Given the description of an element on the screen output the (x, y) to click on. 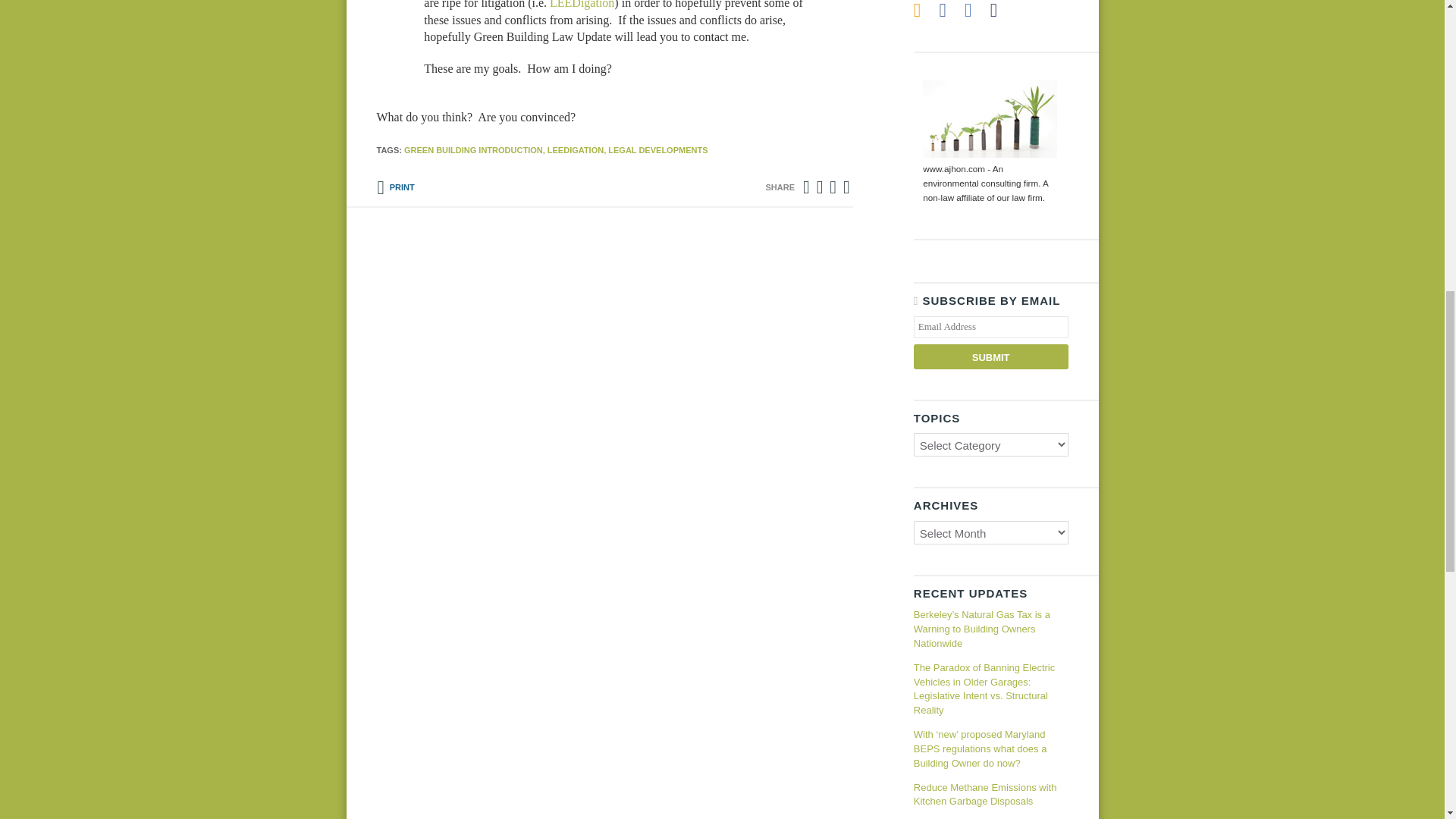
GREEN BUILDING INTRODUCTION, (474, 149)
LEEDIGATION, (576, 149)
LEEDigation (582, 4)
SUBMIT (991, 356)
PRINT (394, 186)
LEEDigation (582, 4)
Reduce Methane Emissions with Kitchen Garbage Disposals (991, 795)
LEGAL DEVELOPMENTS (657, 149)
SUBMIT (991, 356)
